Given the description of an element on the screen output the (x, y) to click on. 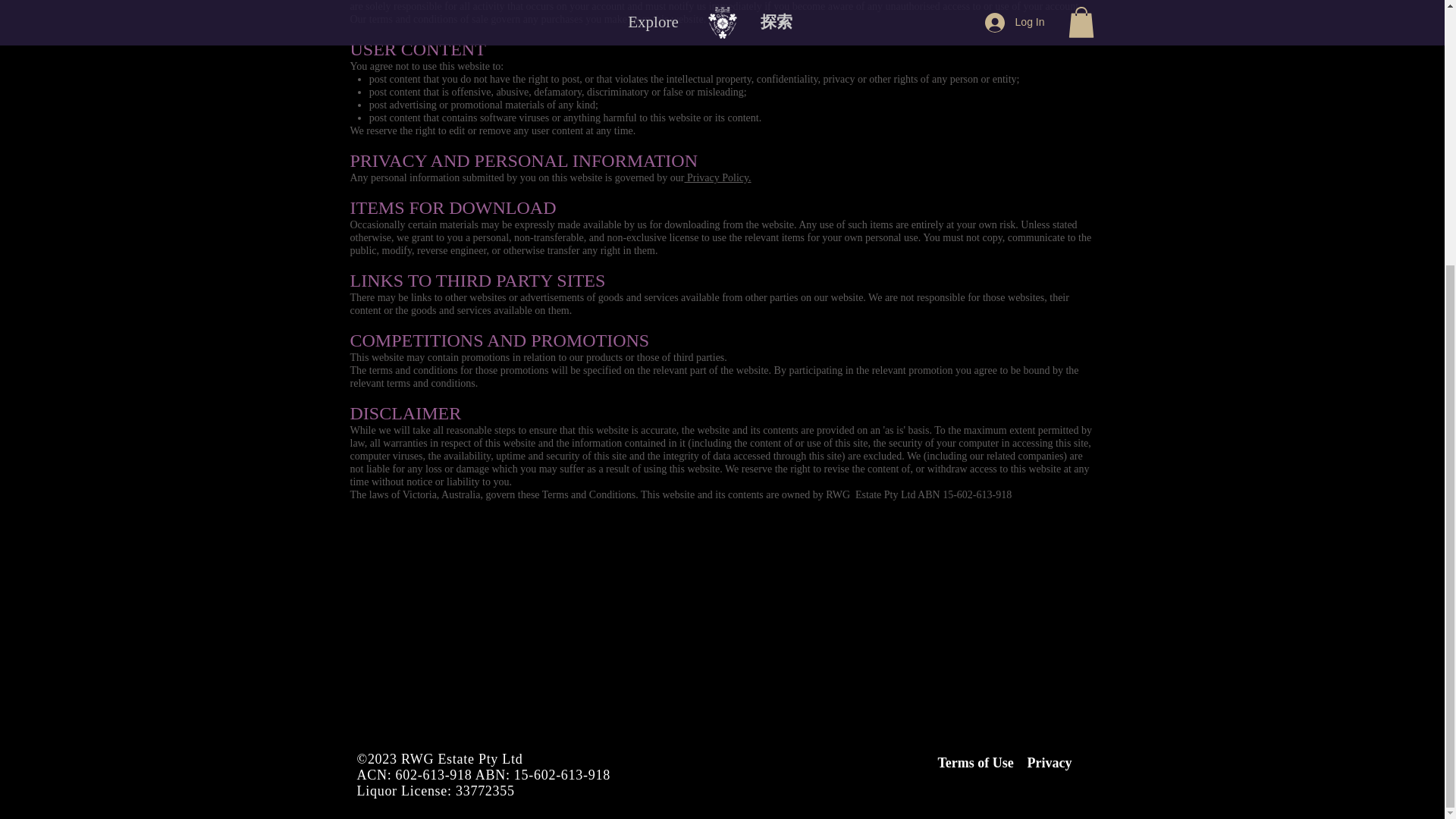
 Privacy Policy. (717, 177)
Privacy (1048, 762)
Terms of Use (975, 762)
